Given the description of an element on the screen output the (x, y) to click on. 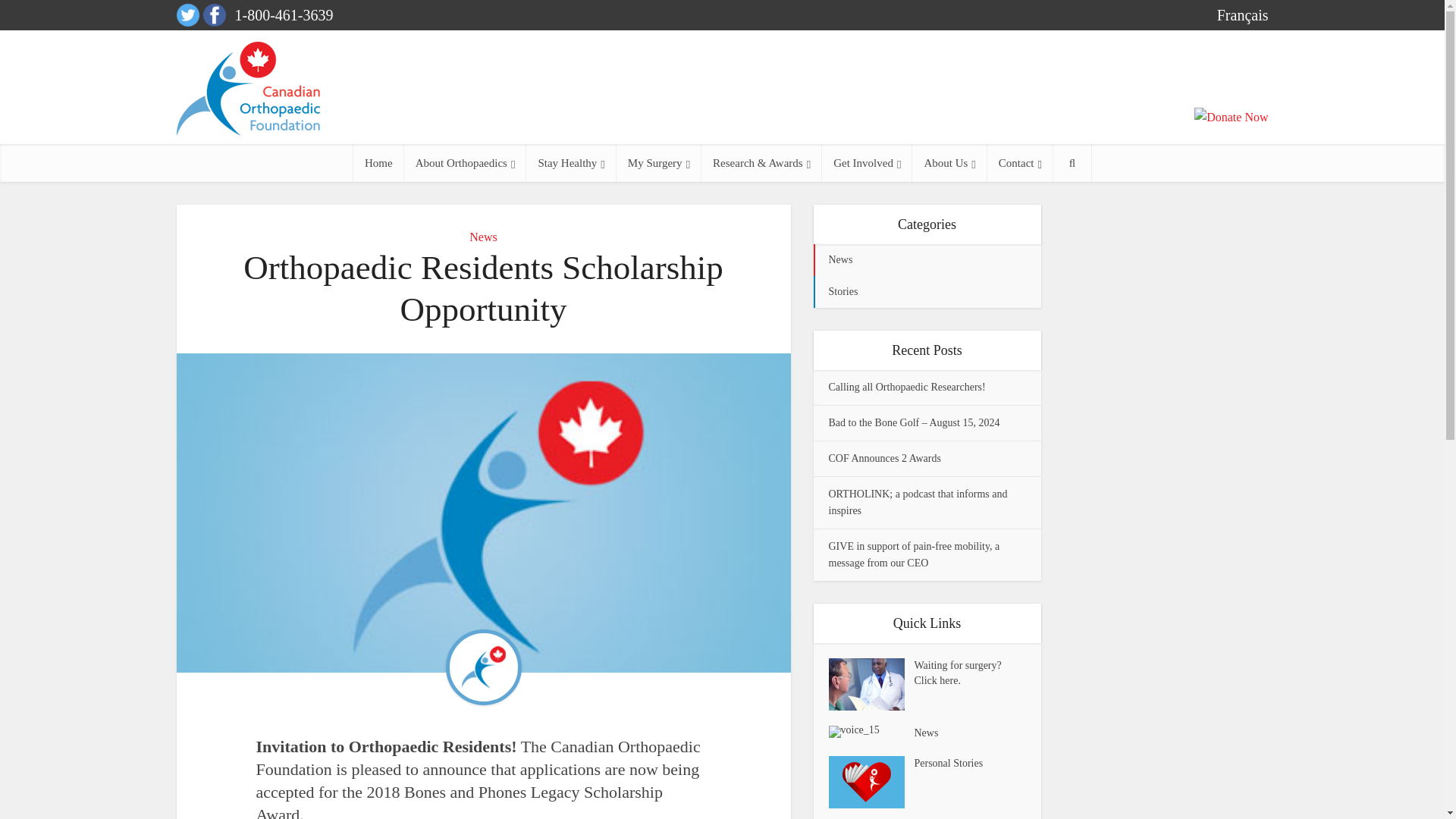
Canadian Orthopaedic Foundation (247, 88)
News (482, 236)
Stay Healthy (570, 162)
View all posts in Stories (926, 291)
About Orthopaedics (465, 162)
Home (378, 162)
View all posts in News (926, 260)
